Given the description of an element on the screen output the (x, y) to click on. 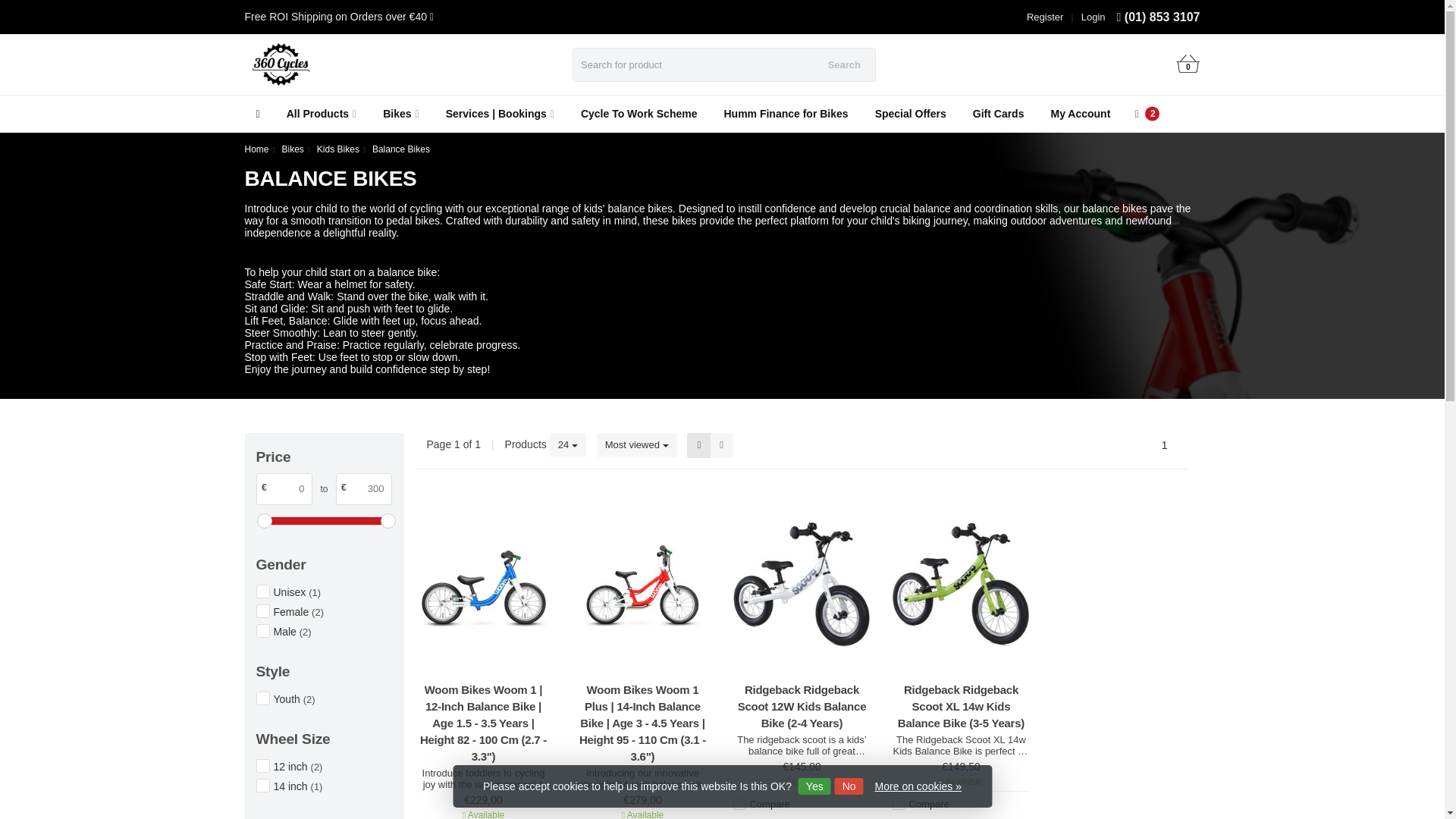
0 (284, 489)
Search (844, 64)
278525 (262, 631)
300 (362, 489)
Register (1044, 16)
My account (1093, 16)
All Products (321, 113)
885529 (262, 698)
All Products (321, 113)
0 (1187, 64)
Login (1093, 16)
278522 (262, 611)
278534 (262, 592)
782370 (262, 786)
Register (1044, 16)
